Given the description of an element on the screen output the (x, y) to click on. 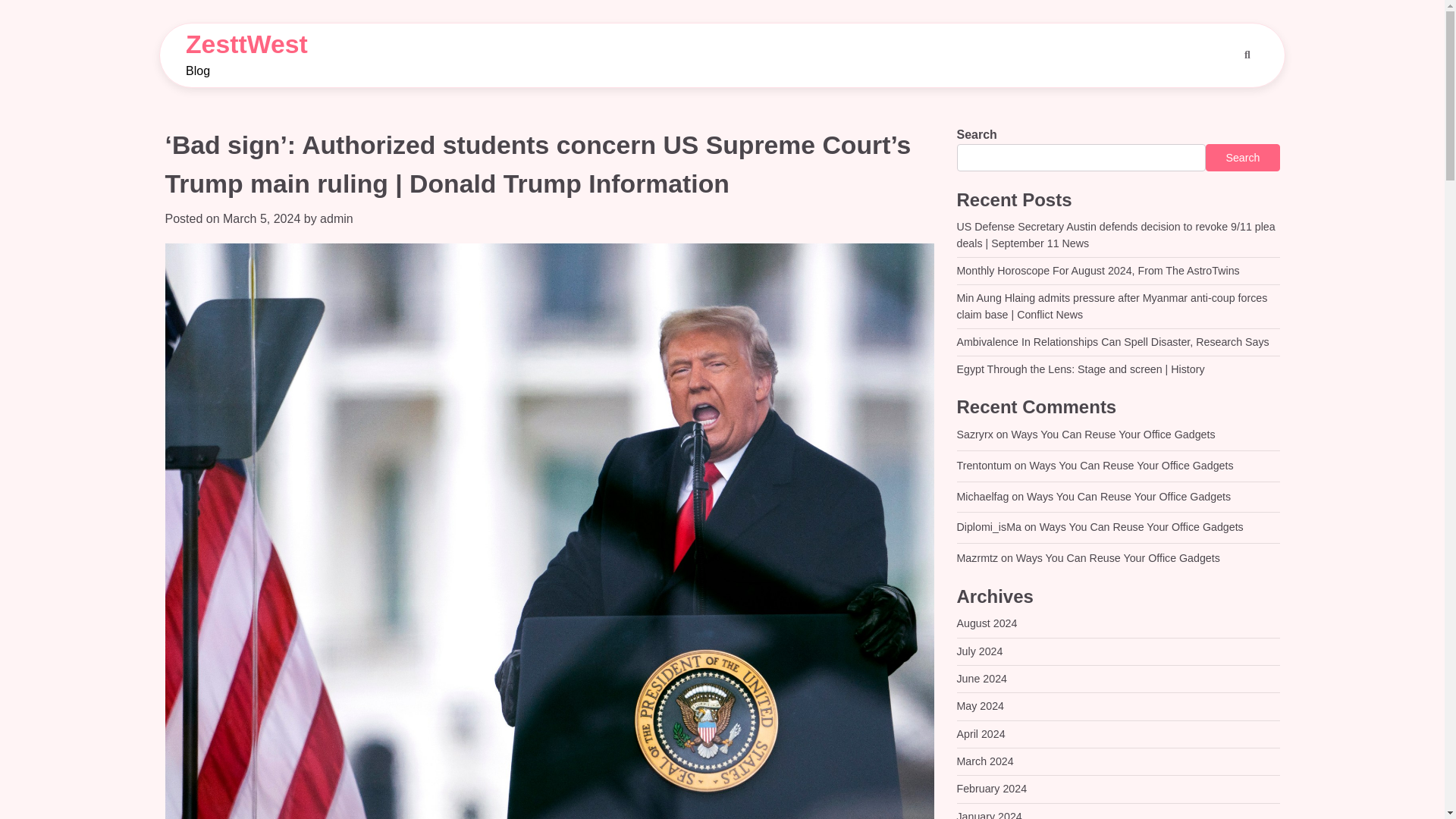
Monthly Horoscope For August 2024, From The AstroTwins (1098, 270)
March 2024 (984, 761)
ZesttWest (246, 43)
Search (1242, 157)
July 2024 (979, 651)
admin (336, 218)
Ways You Can Reuse Your Office Gadgets (1141, 526)
Search (1247, 55)
Ways You Can Reuse Your Office Gadgets (1118, 558)
Ways You Can Reuse Your Office Gadgets (1131, 465)
June 2024 (981, 678)
March 5, 2024 (260, 218)
April 2024 (981, 734)
Ways You Can Reuse Your Office Gadgets (1113, 434)
May 2024 (980, 705)
